Given the description of an element on the screen output the (x, y) to click on. 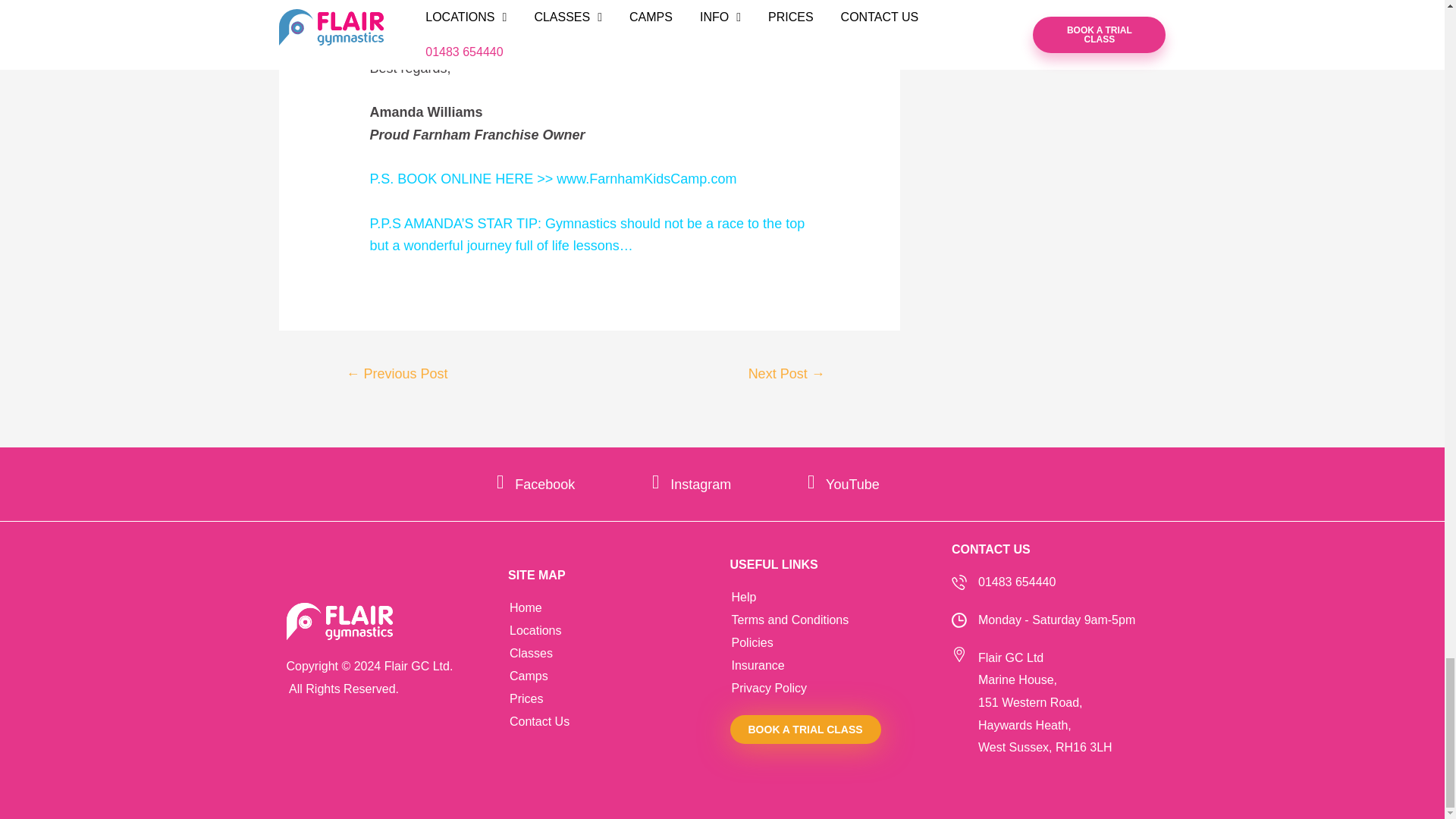
Behind the scenes of our children's gymnastics clubs (786, 375)
How to achieve your goals through gymnastics (395, 375)
